Given the description of an element on the screen output the (x, y) to click on. 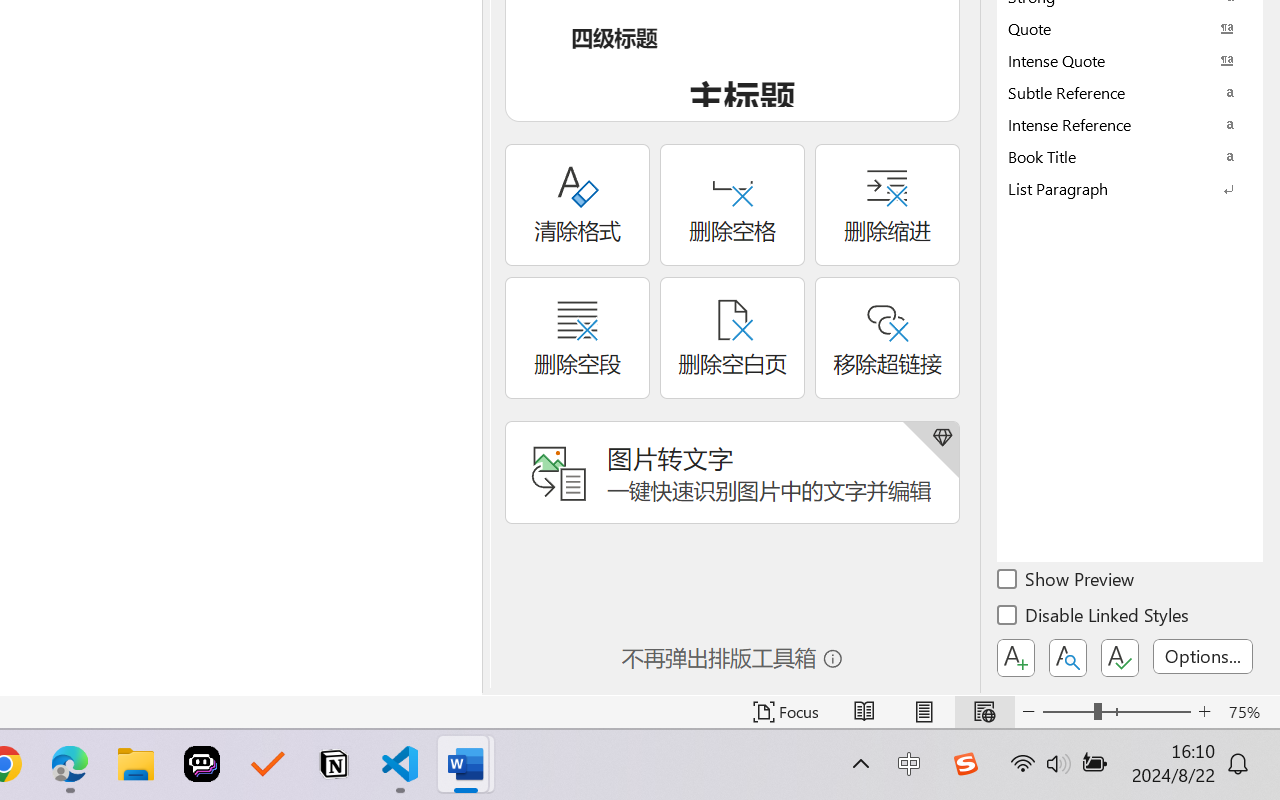
Book Title (1130, 156)
Options... (1203, 656)
Quote (1130, 28)
Web Layout (984, 712)
Subtle Reference (1130, 92)
Intense Quote (1130, 60)
